Given the description of an element on the screen output the (x, y) to click on. 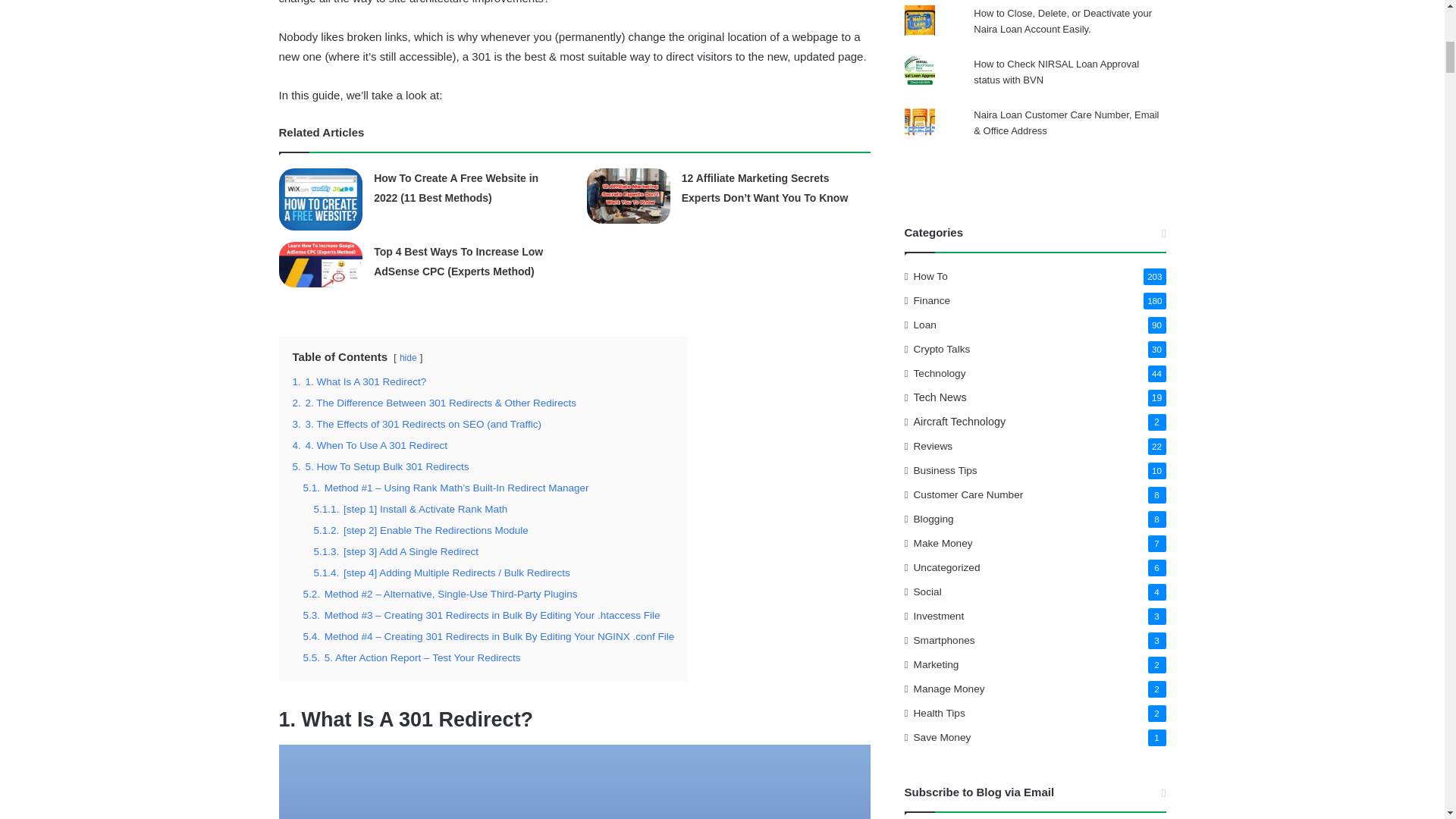
1. 1. What Is A 301 Redirect? (359, 381)
hide (407, 357)
4. 4. When To Use A 301 Redirect (369, 445)
5. 5. How To Setup Bulk 301 Redirects (380, 466)
